Given the description of an element on the screen output the (x, y) to click on. 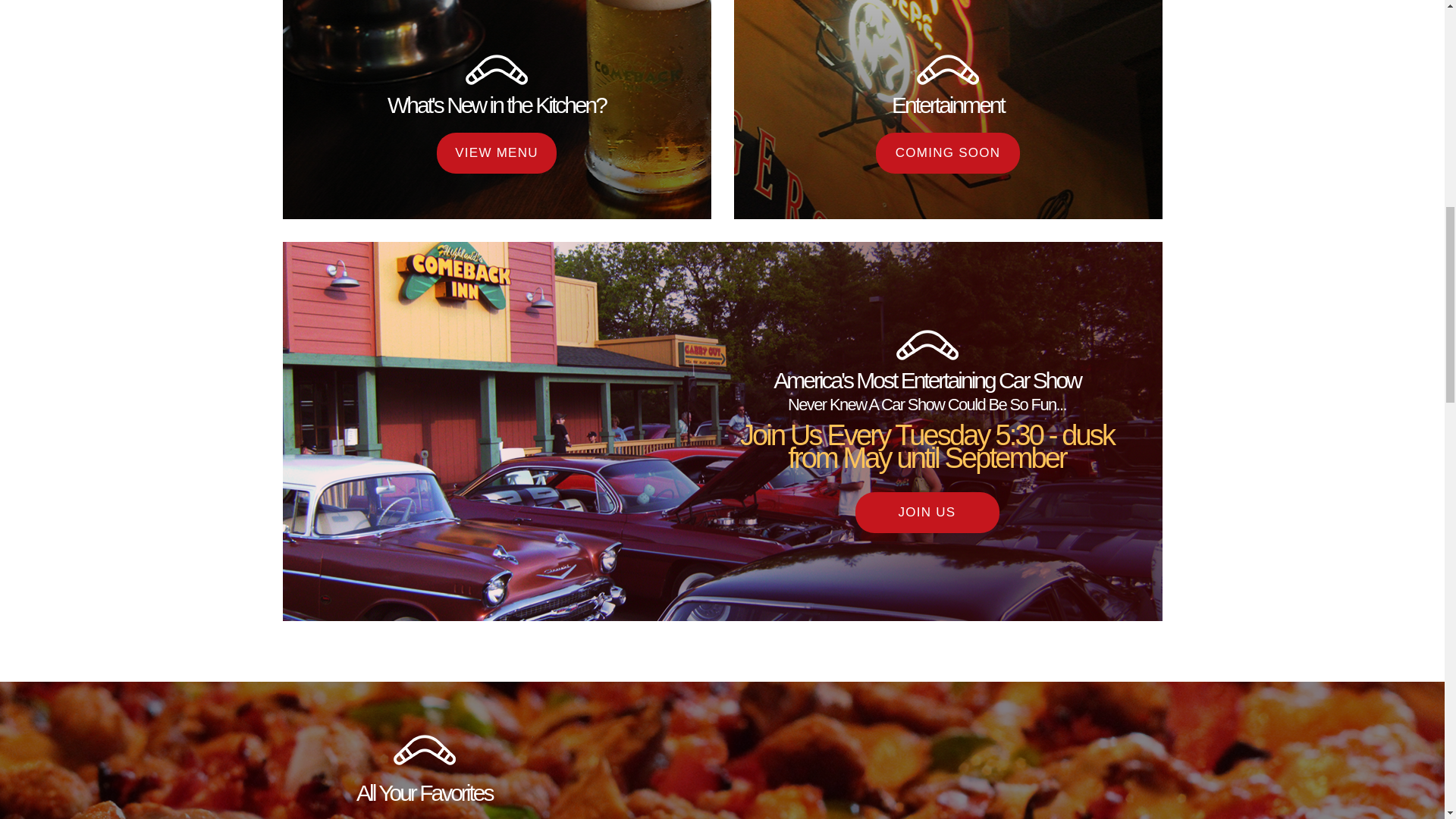
Icon 1 (947, 69)
VIEW MENU (496, 152)
Icon 1 (496, 69)
Icon 1 (424, 749)
Icon 1 (927, 345)
JOIN US (927, 512)
COMING SOON (948, 152)
